Given the description of an element on the screen output the (x, y) to click on. 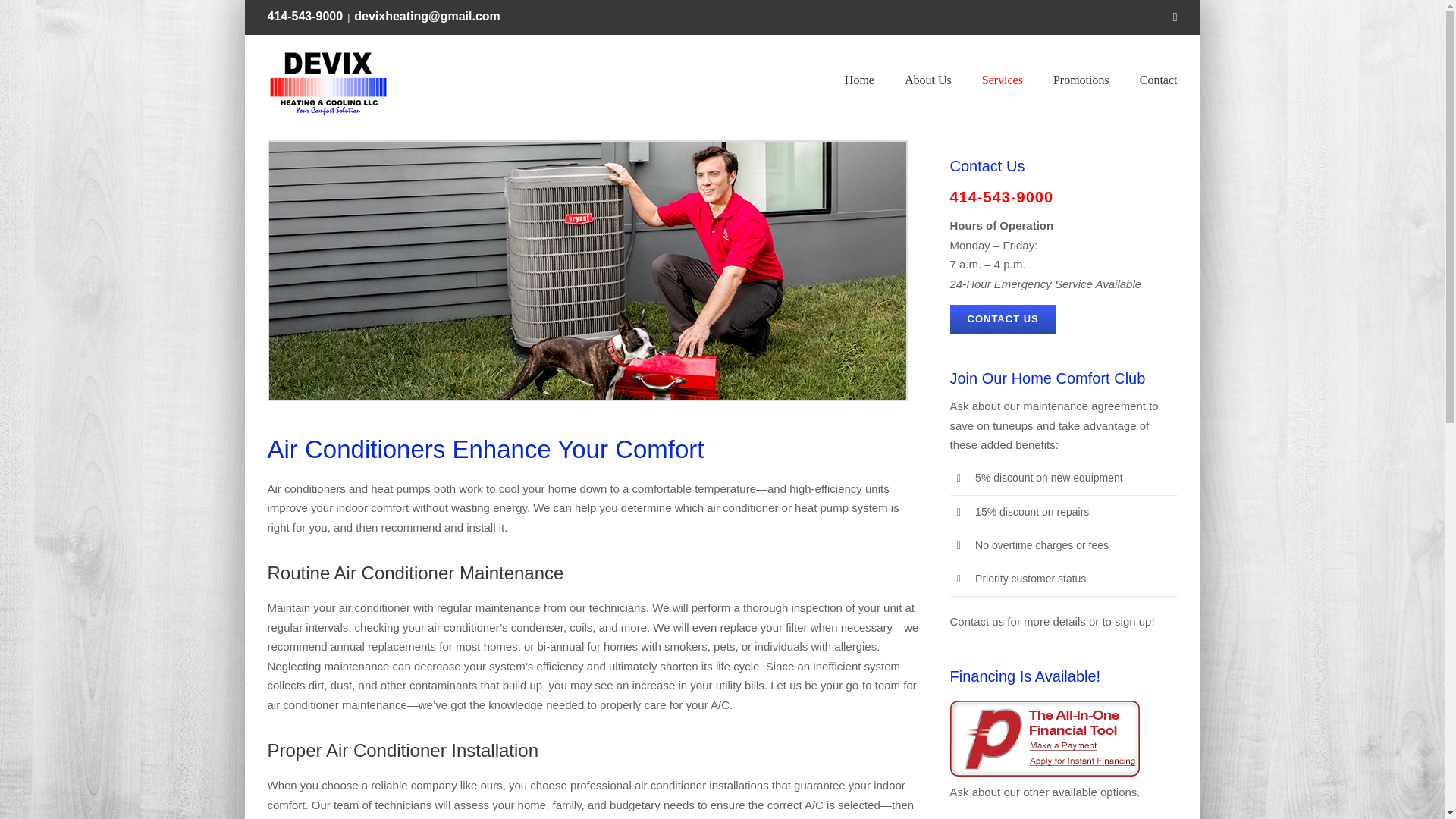
414-543-9000 (304, 15)
Promotions (1080, 79)
